Given the description of an element on the screen output the (x, y) to click on. 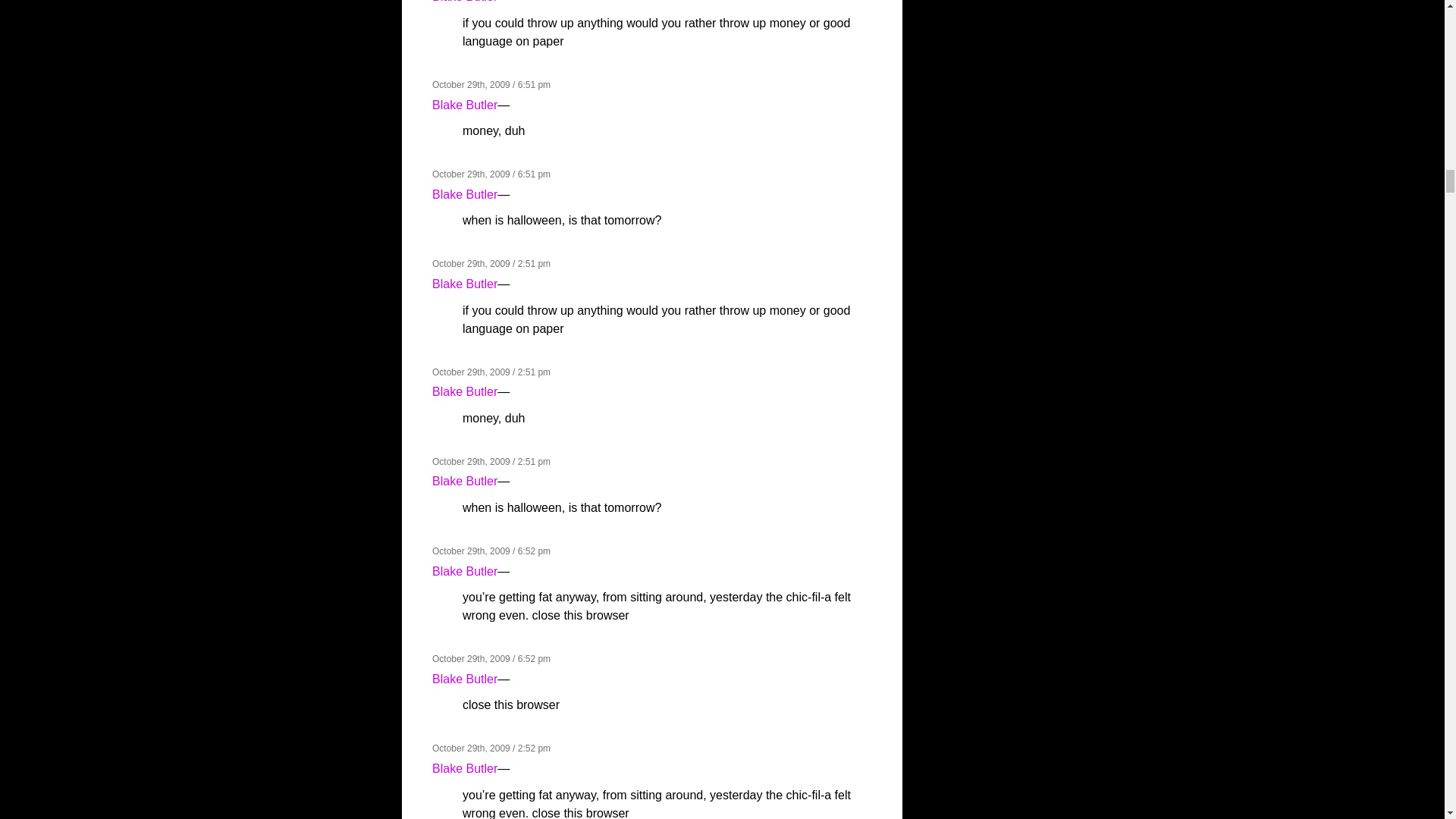
Blake Butler (464, 104)
Blake Butler (464, 1)
Blake Butler (464, 194)
